Given the description of an element on the screen output the (x, y) to click on. 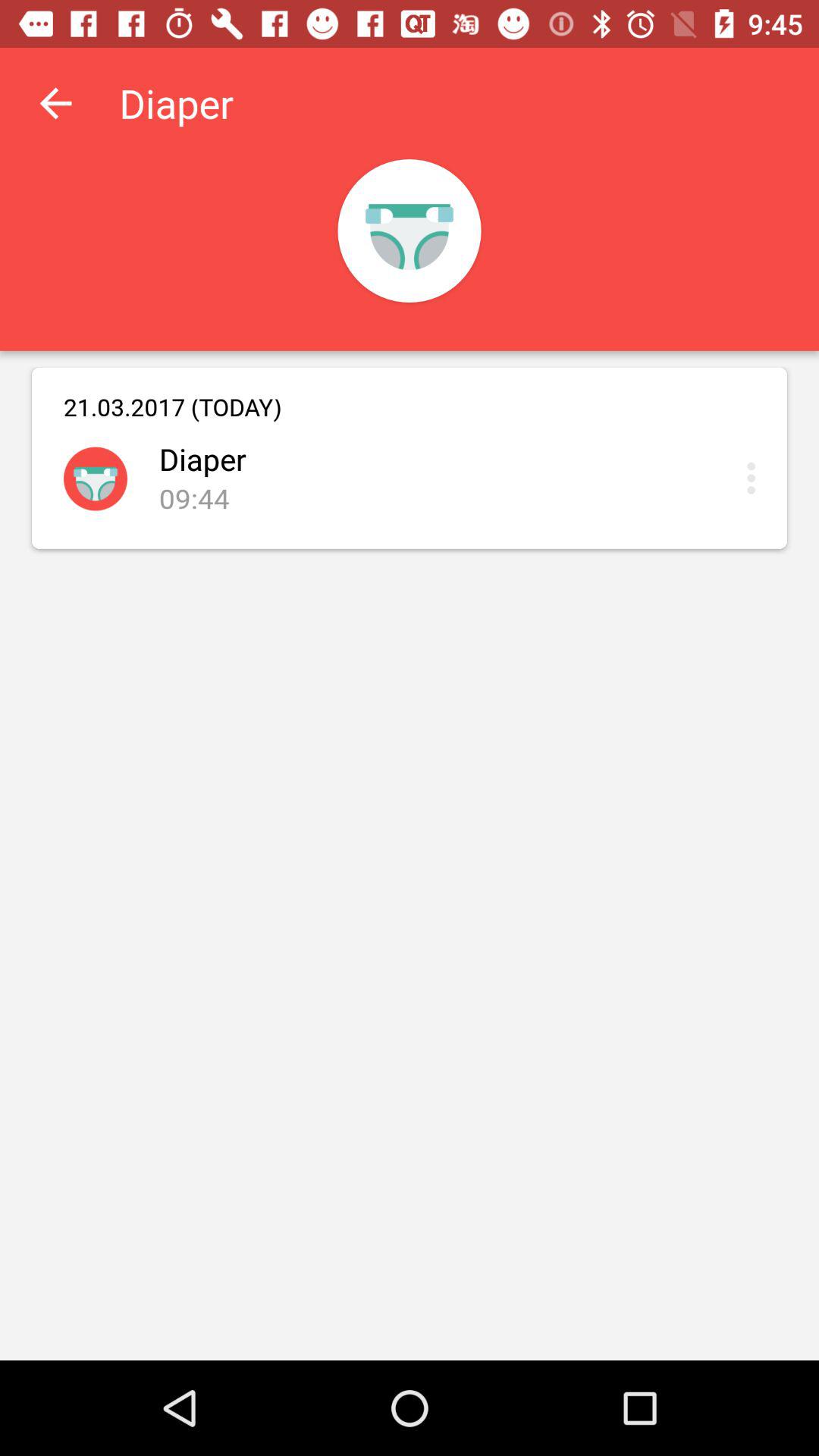
selct the option (755, 477)
